Given the description of an element on the screen output the (x, y) to click on. 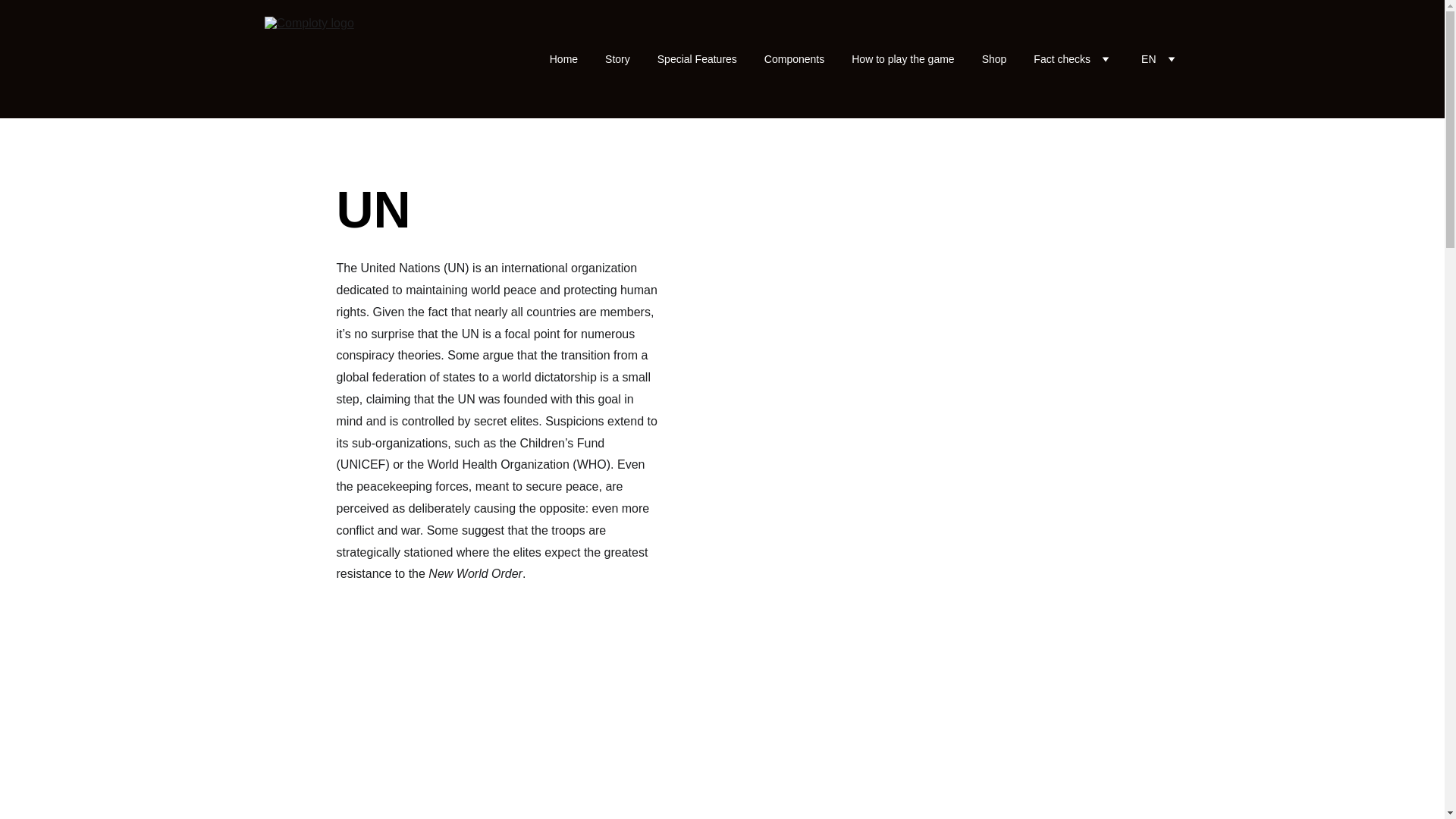
How to play the game (902, 58)
Shop (994, 58)
Fact checks (1061, 58)
Home (564, 58)
Special Features (697, 58)
Components (794, 58)
Story (617, 58)
